Given the description of an element on the screen output the (x, y) to click on. 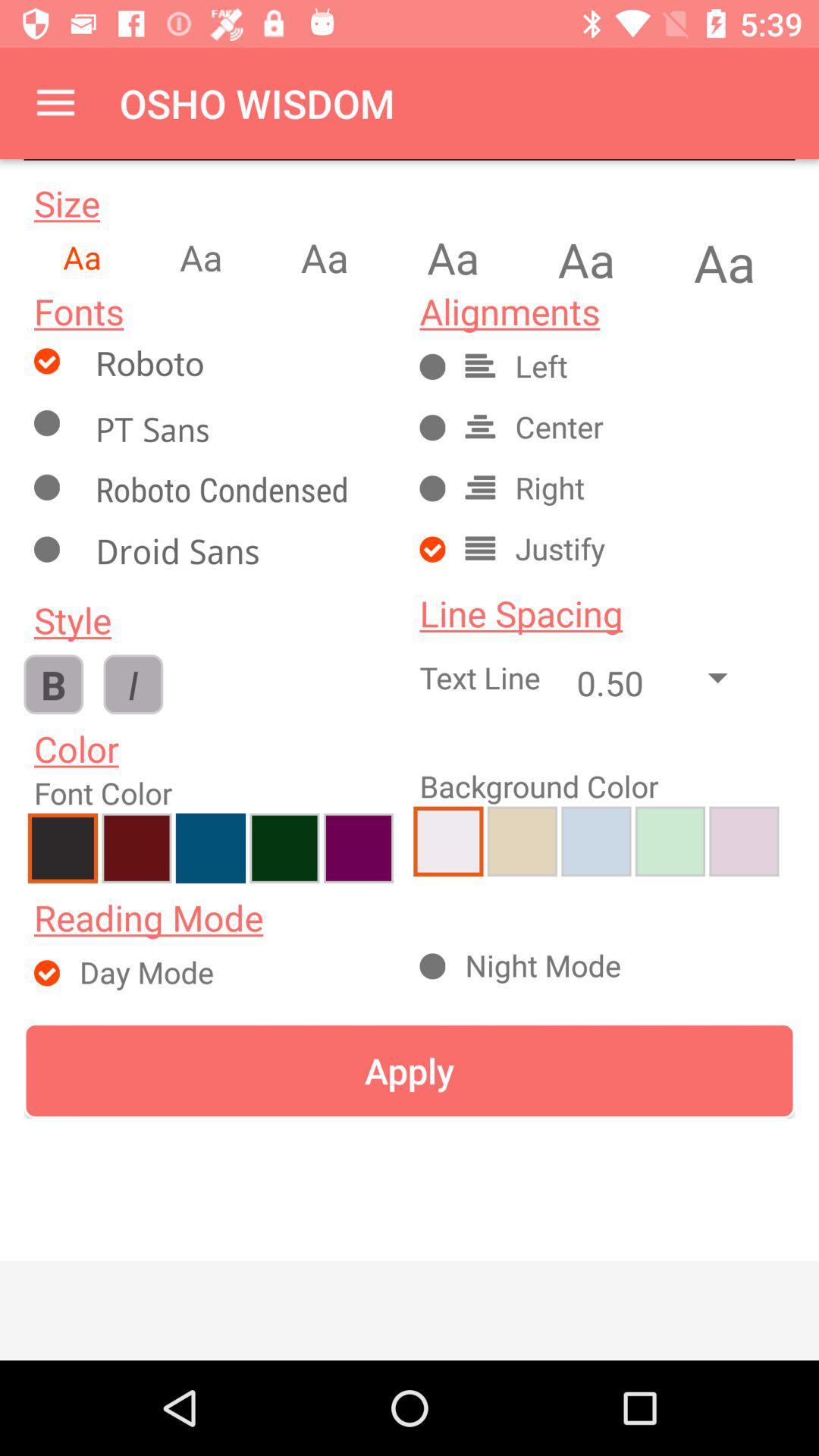
select green font (284, 848)
